Given the description of an element on the screen output the (x, y) to click on. 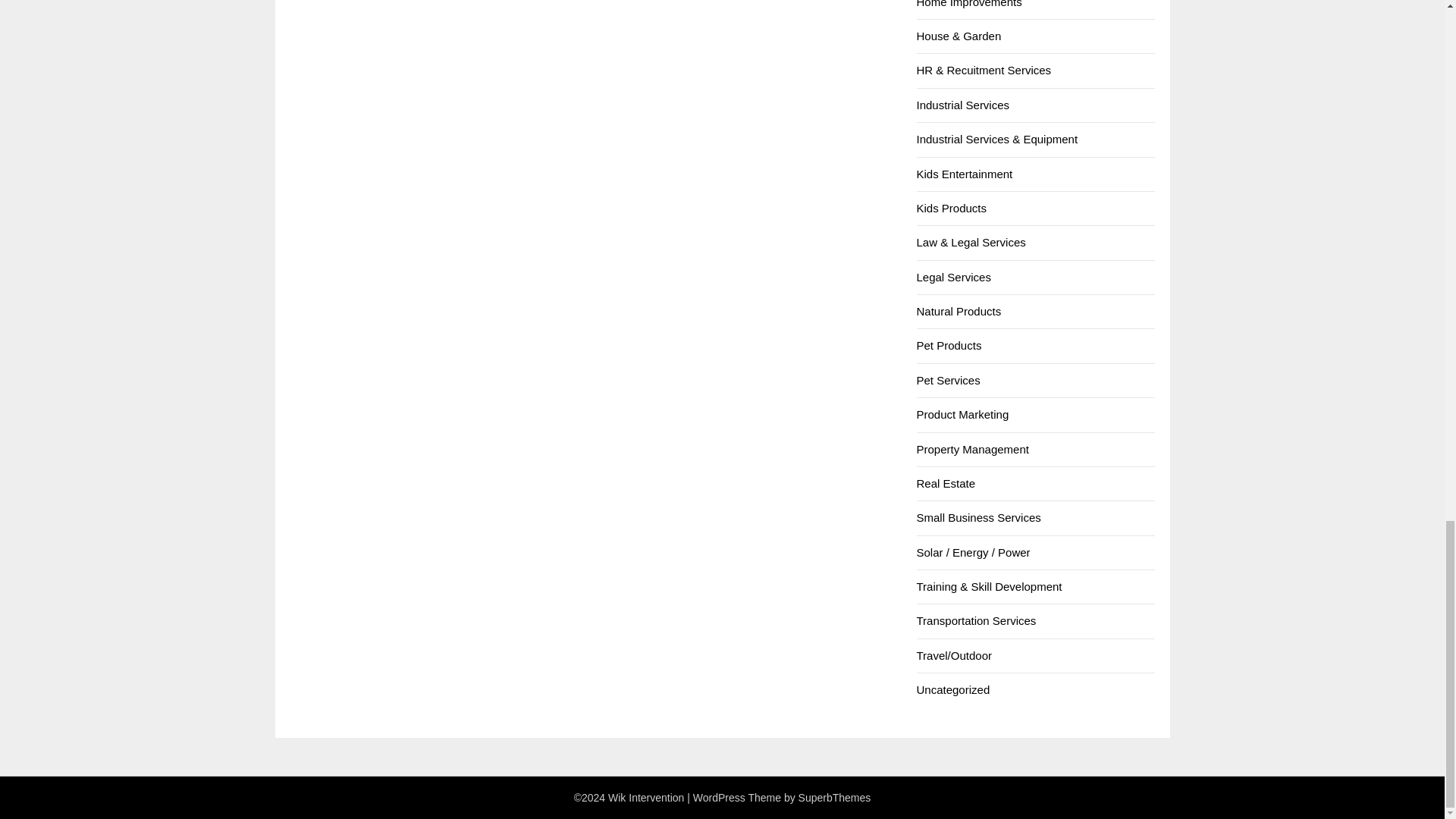
Industrial Services (962, 104)
Pet Products (948, 345)
Home Improvements (968, 4)
Kids Products (951, 207)
Natural Products (958, 310)
Legal Services (952, 277)
Pet Services (947, 379)
Kids Entertainment (963, 173)
